Given the description of an element on the screen output the (x, y) to click on. 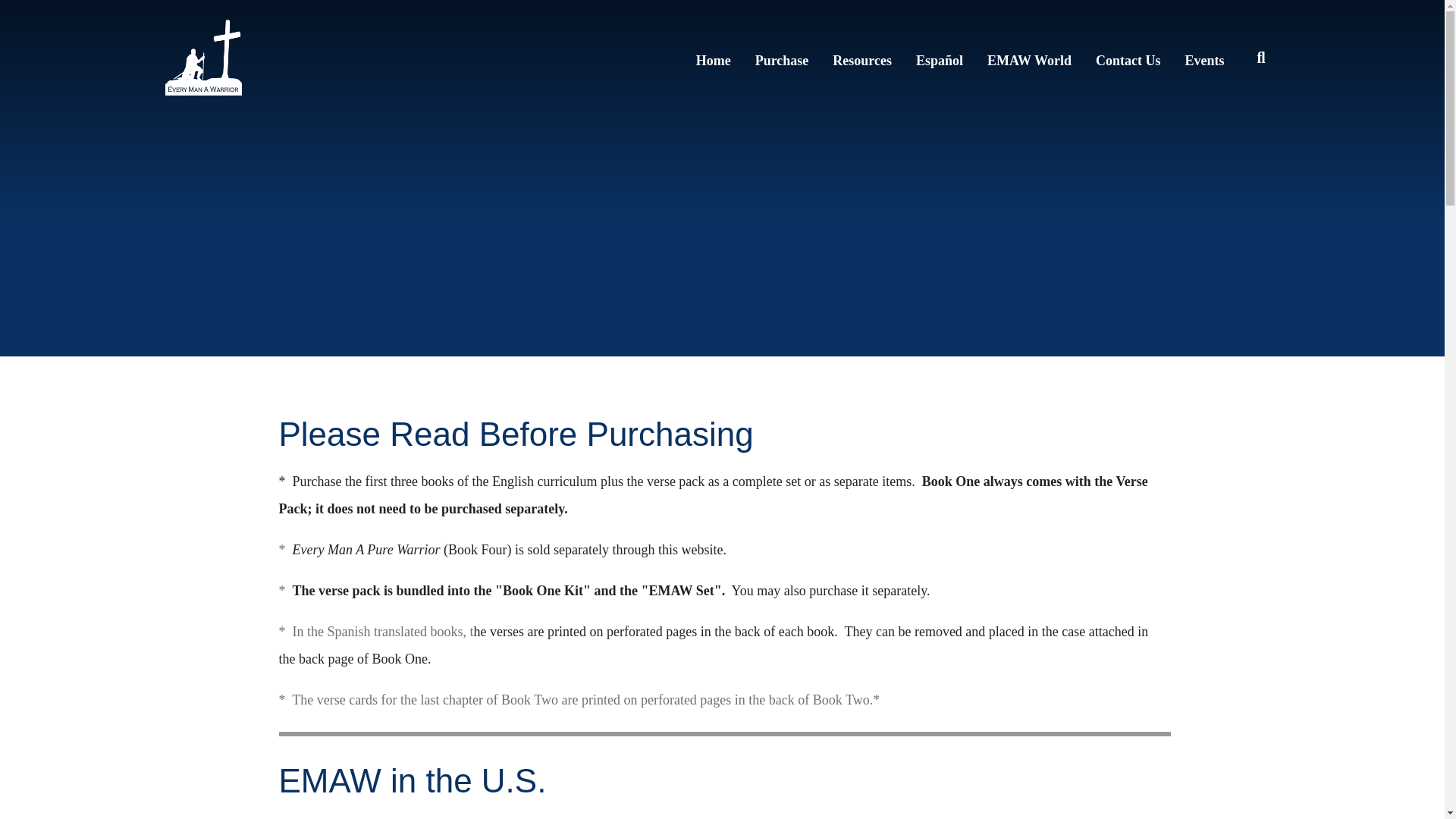
logo (203, 57)
Purchase (782, 57)
EMAW World (1029, 57)
Resources (861, 57)
Contact Us (1128, 57)
